Given the description of an element on the screen output the (x, y) to click on. 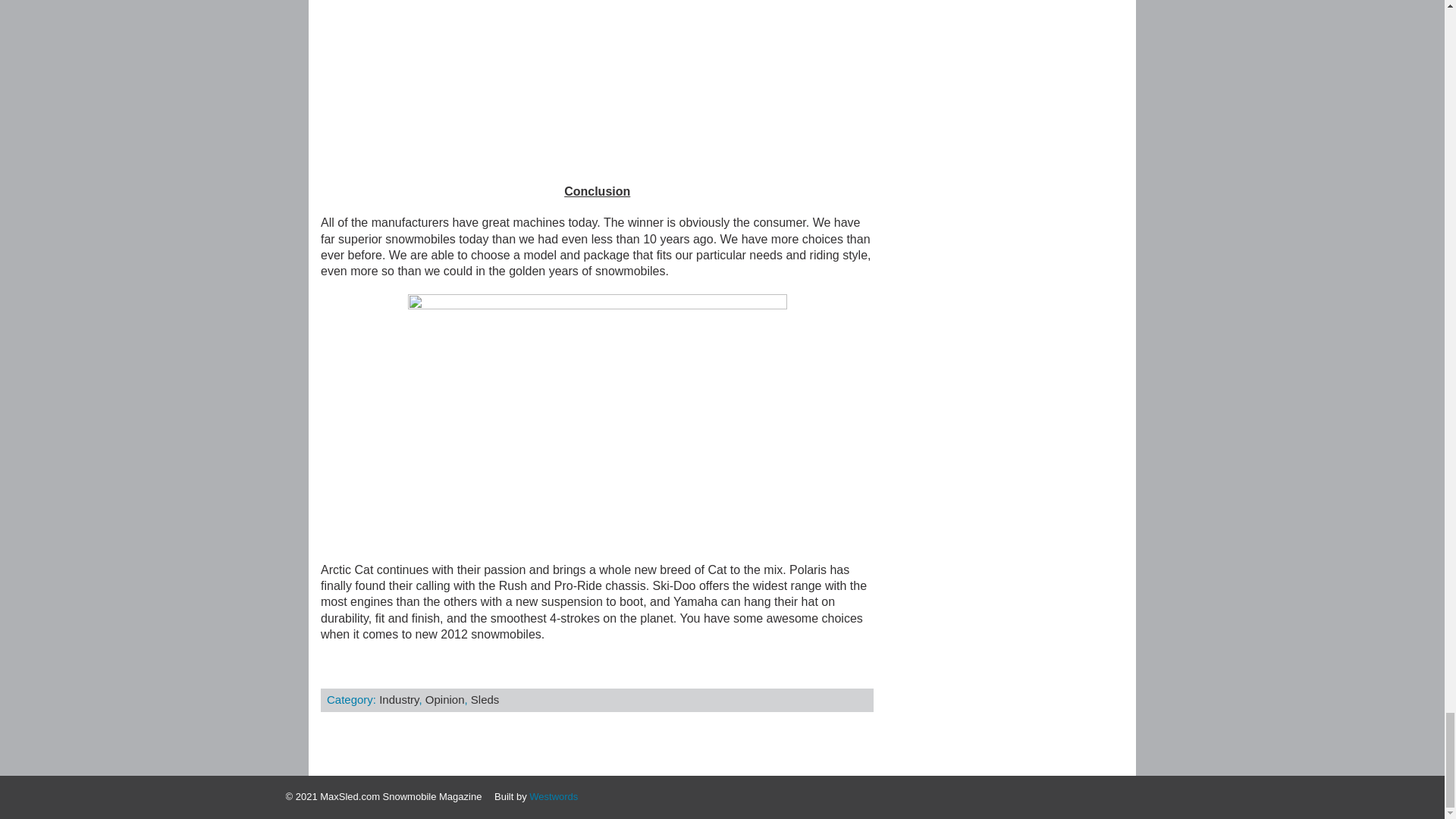
Westwords (553, 796)
Industry (398, 698)
Sleds (484, 698)
Opinion (444, 698)
